Given the description of an element on the screen output the (x, y) to click on. 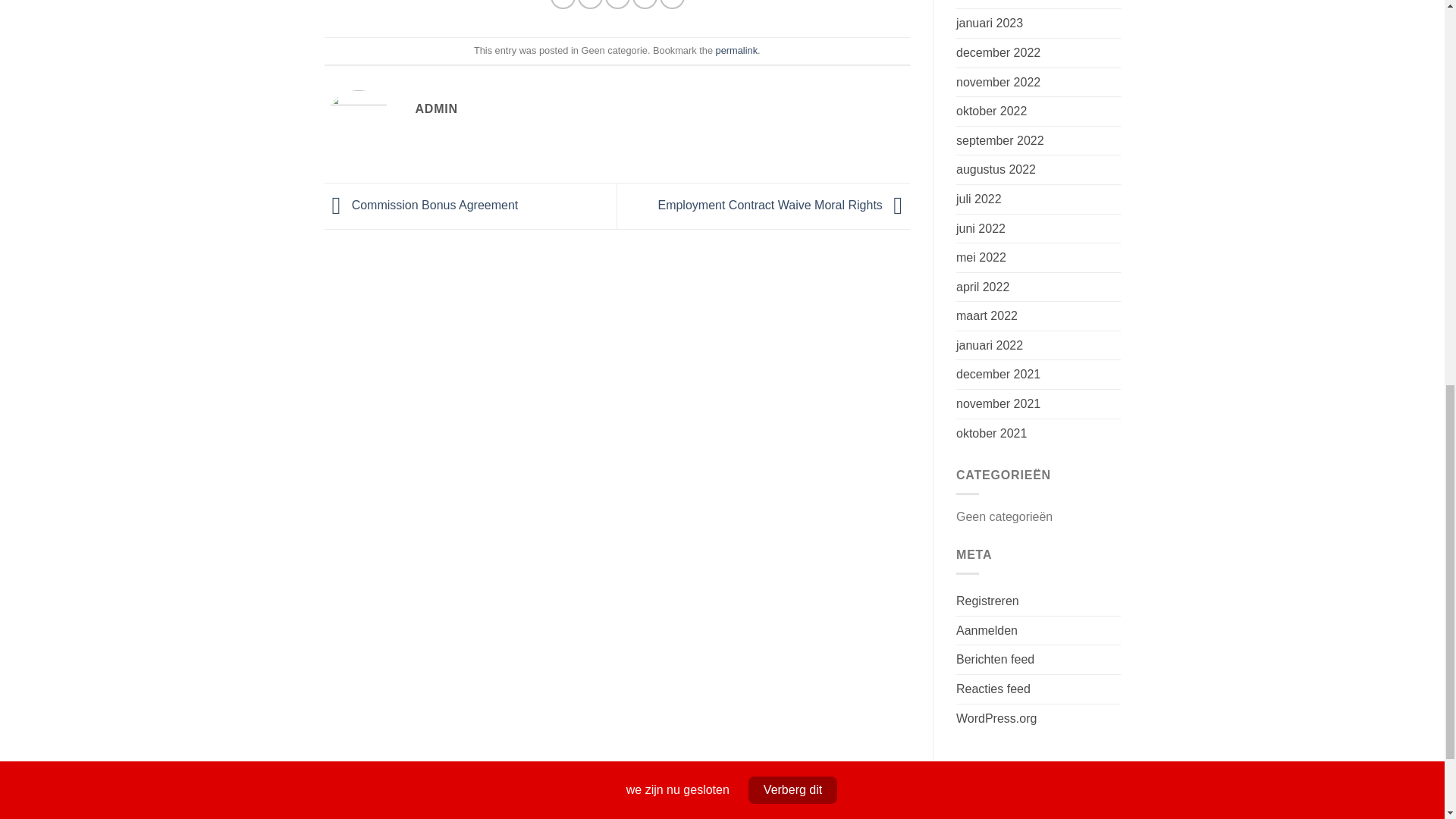
Share on LinkedIn (671, 4)
januari 2023 (989, 23)
september 2022 (999, 140)
Share on Facebook (562, 4)
Employment Contract Waive Moral Rights (784, 205)
Email to a Friend (617, 4)
Share on Twitter (590, 4)
december 2022 (998, 52)
Pin on Pinterest (644, 4)
oktober 2022 (991, 111)
permalink (736, 50)
november 2022 (998, 82)
februari 2023 (991, 4)
Permalink to Notarized Rental Agreement Online (736, 50)
Commission Bonus Agreement (421, 205)
